Given the description of an element on the screen output the (x, y) to click on. 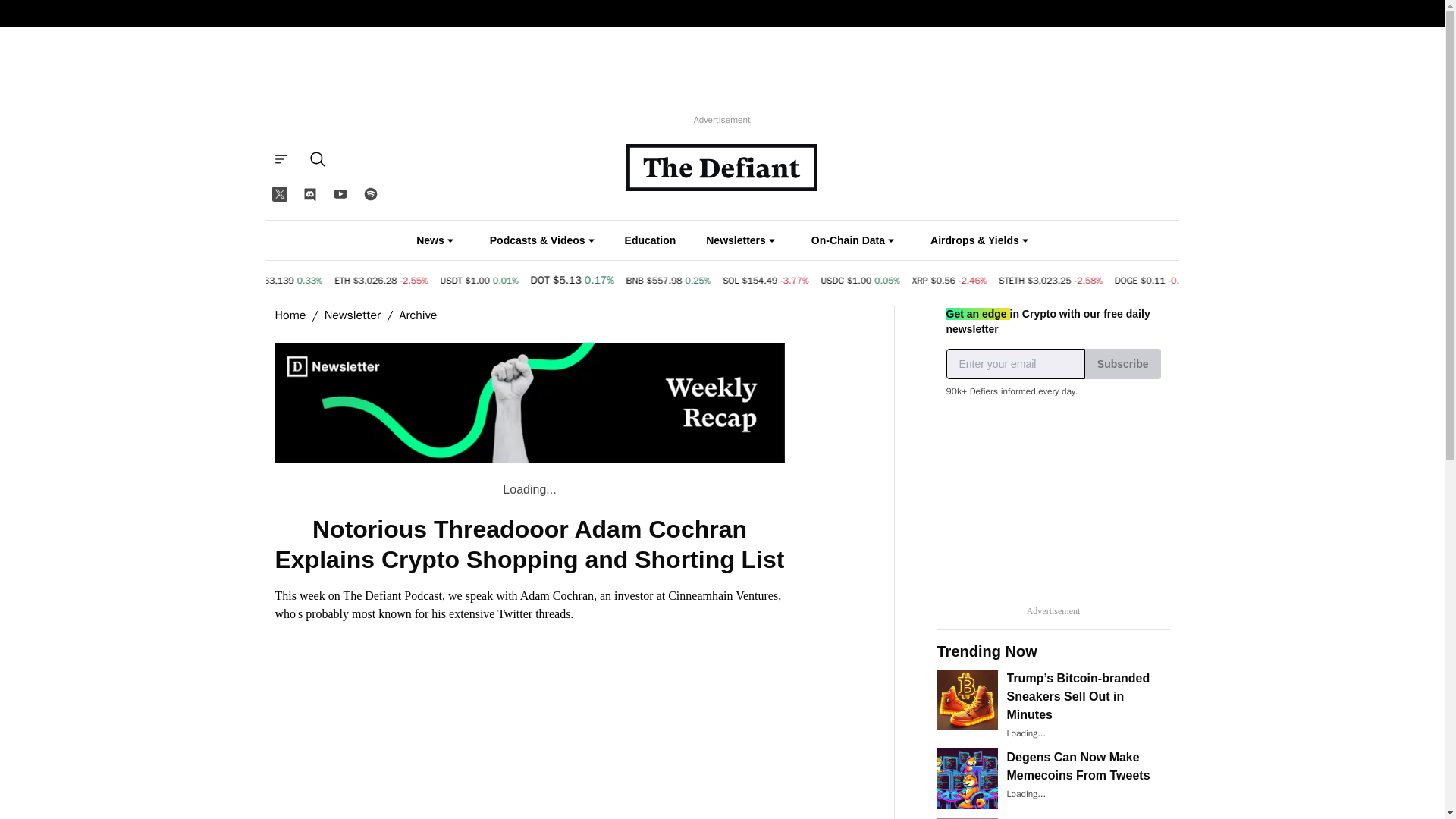
On-Chain Data (851, 240)
Spotify (370, 194)
News (434, 240)
YouTube (339, 194)
Education (650, 240)
Newsletters (740, 240)
Hamburguer button (279, 159)
Discord (309, 194)
Twitter (278, 194)
